Given the description of an element on the screen output the (x, y) to click on. 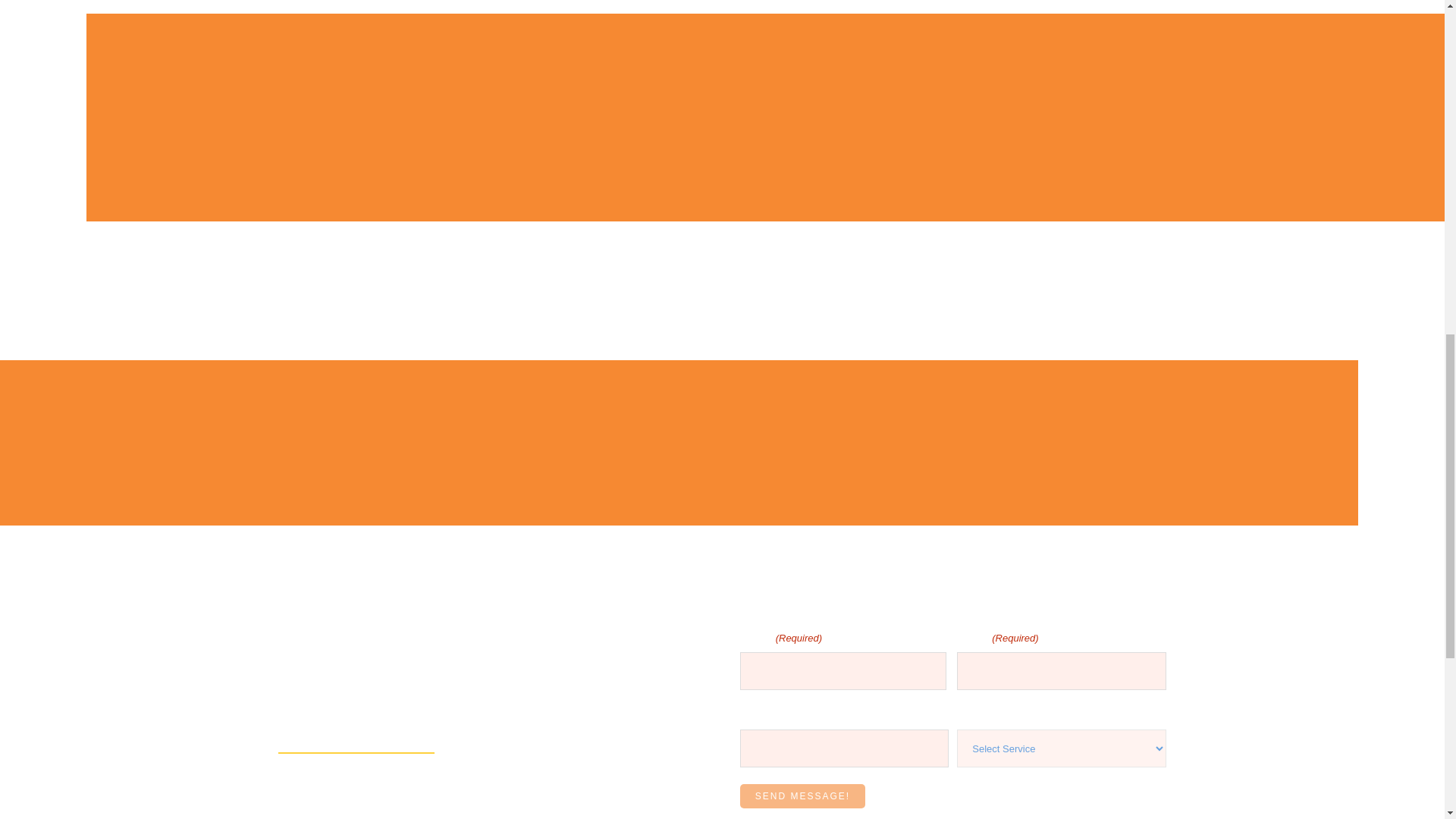
SEND MESSAGE! (801, 795)
SEND MESSAGE! (801, 795)
